Given the description of an element on the screen output the (x, y) to click on. 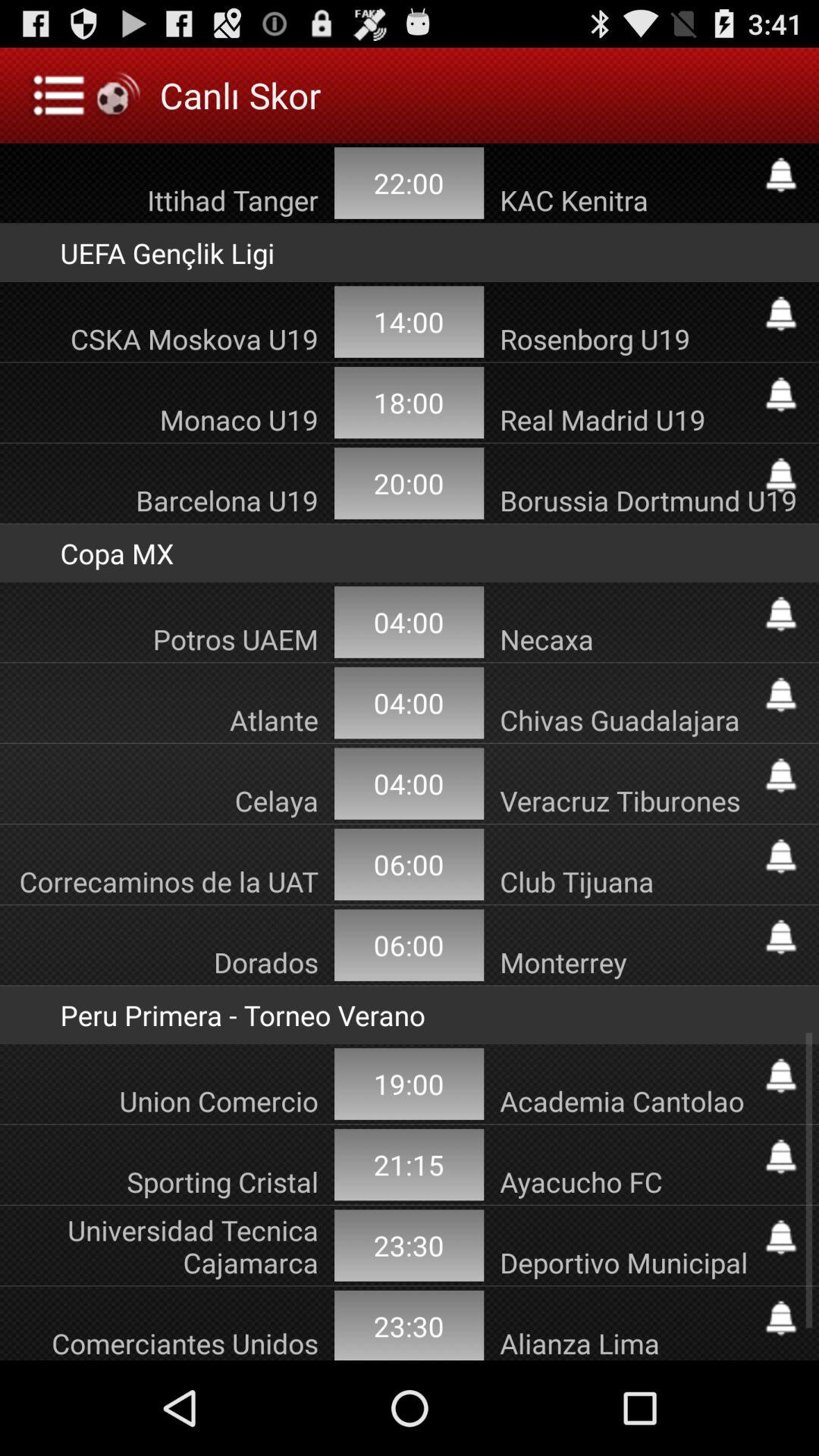
alerts (780, 937)
